Given the description of an element on the screen output the (x, y) to click on. 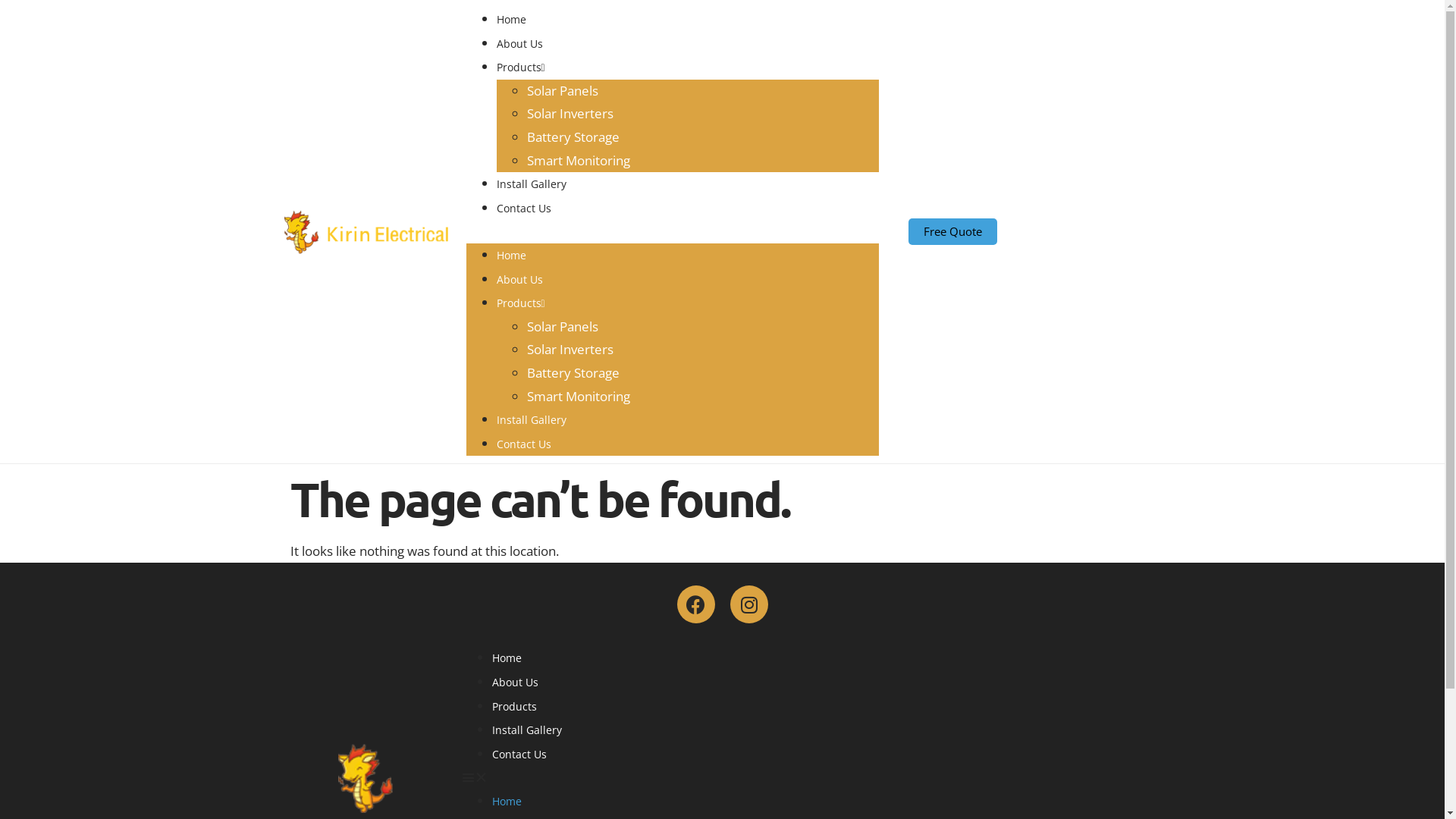
About Us Element type: text (518, 43)
Battery Storage Element type: text (572, 372)
Home Element type: text (505, 657)
Solar Inverters Element type: text (569, 113)
Contact Us Element type: text (522, 207)
Smart Monitoring Element type: text (577, 160)
Contact Us Element type: text (518, 753)
Solar Panels Element type: text (561, 326)
Install Gallery Element type: text (530, 419)
Products Element type: text (519, 66)
Home Element type: text (505, 800)
Free Quote Element type: text (952, 231)
Smart Monitoring Element type: text (577, 395)
Install Gallery Element type: text (530, 183)
About Us Element type: text (518, 279)
Solar Panels Element type: text (561, 90)
Install Gallery Element type: text (526, 729)
Battery Storage Element type: text (572, 136)
Products Element type: text (519, 302)
Solar Inverters Element type: text (569, 348)
About Us Element type: text (514, 681)
Products Element type: text (513, 706)
Contact Us Element type: text (522, 443)
Home Element type: text (510, 254)
Home Element type: text (510, 19)
